Given the description of an element on the screen output the (x, y) to click on. 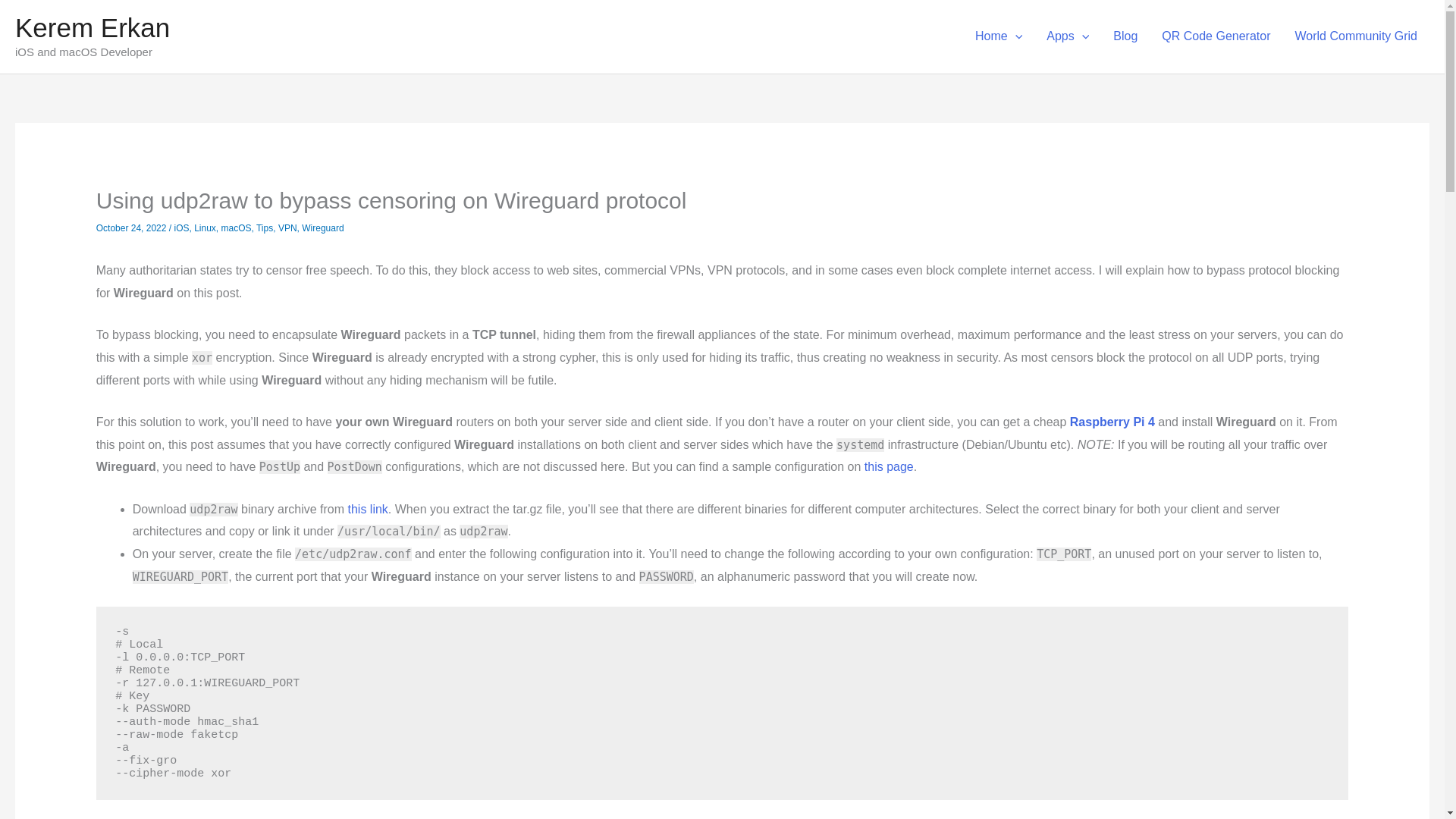
VPN (287, 227)
iOS (181, 227)
Tips (264, 227)
Apps (1066, 36)
Kerem Erkan (92, 27)
Blog (1125, 36)
Home (997, 36)
this page (889, 466)
QR Code Generator (1216, 36)
this link (367, 508)
Linux (204, 227)
Wireguard (322, 227)
macOS (236, 227)
World Community Grid (1355, 36)
Raspberry Pi 4 (1112, 421)
